Given the description of an element on the screen output the (x, y) to click on. 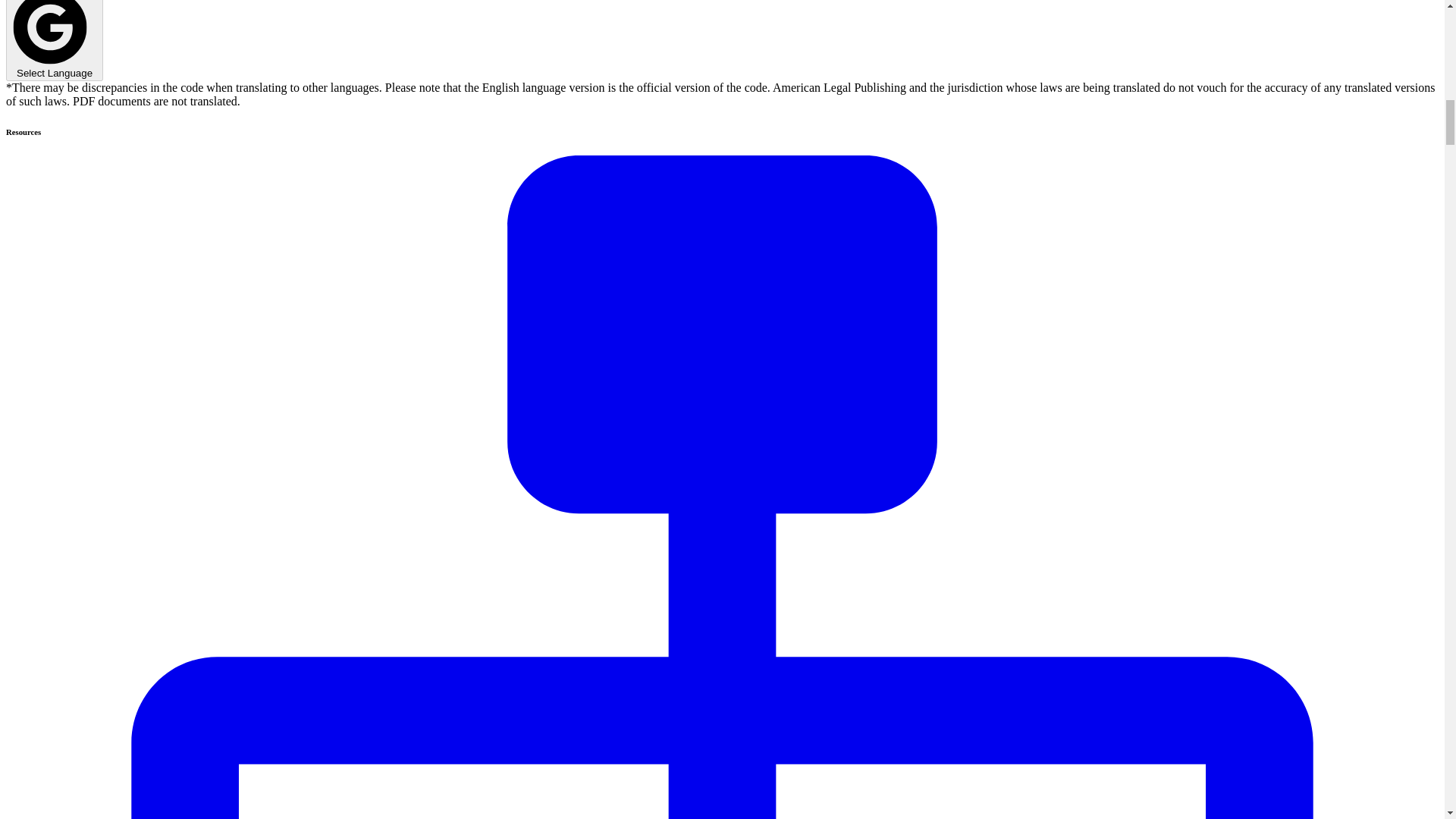
Select Language (54, 40)
